Given the description of an element on the screen output the (x, y) to click on. 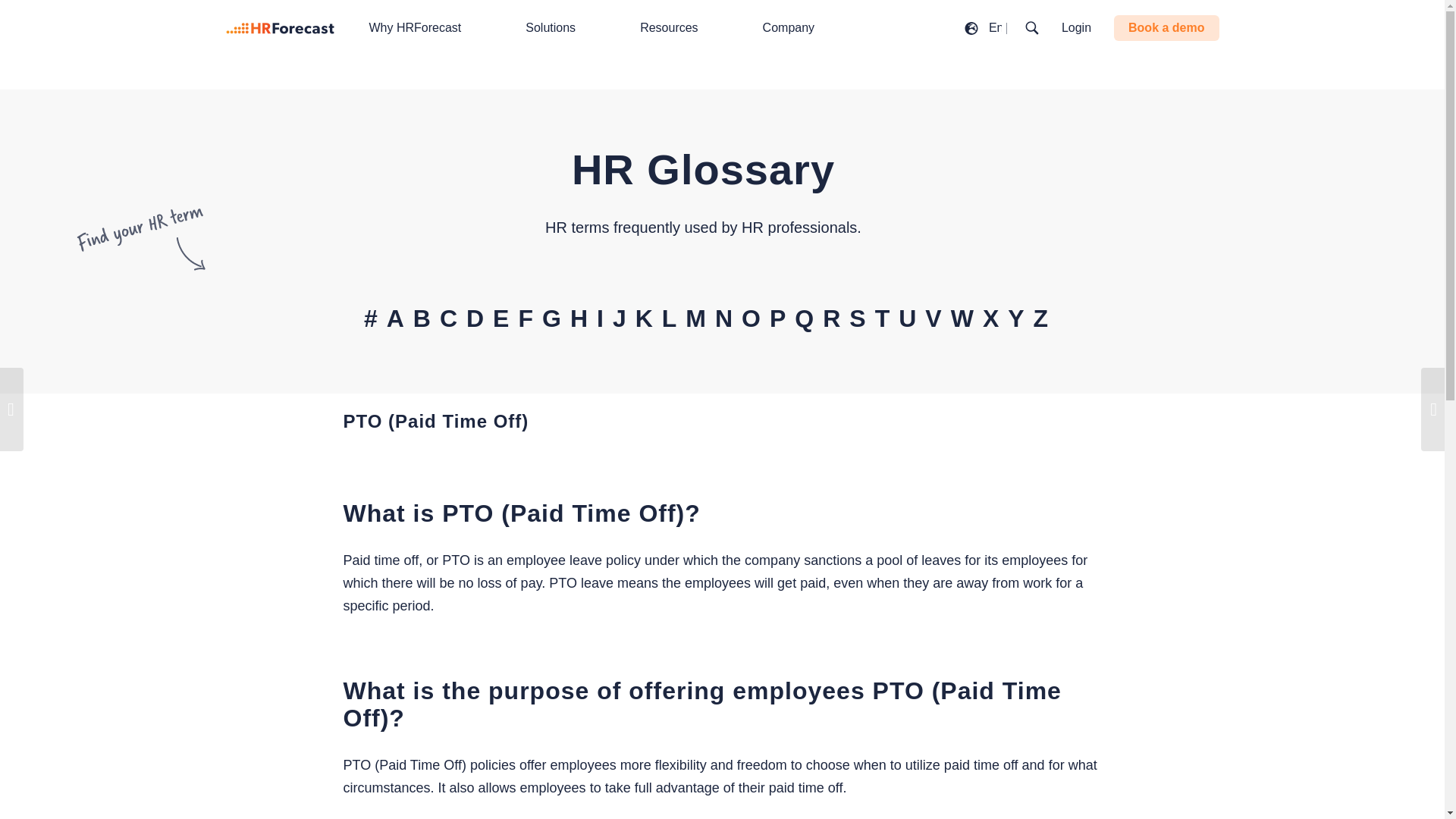
Resources (676, 27)
Company (797, 27)
Solutions (557, 27)
Why HRForecast (422, 27)
